Given the description of an element on the screen output the (x, y) to click on. 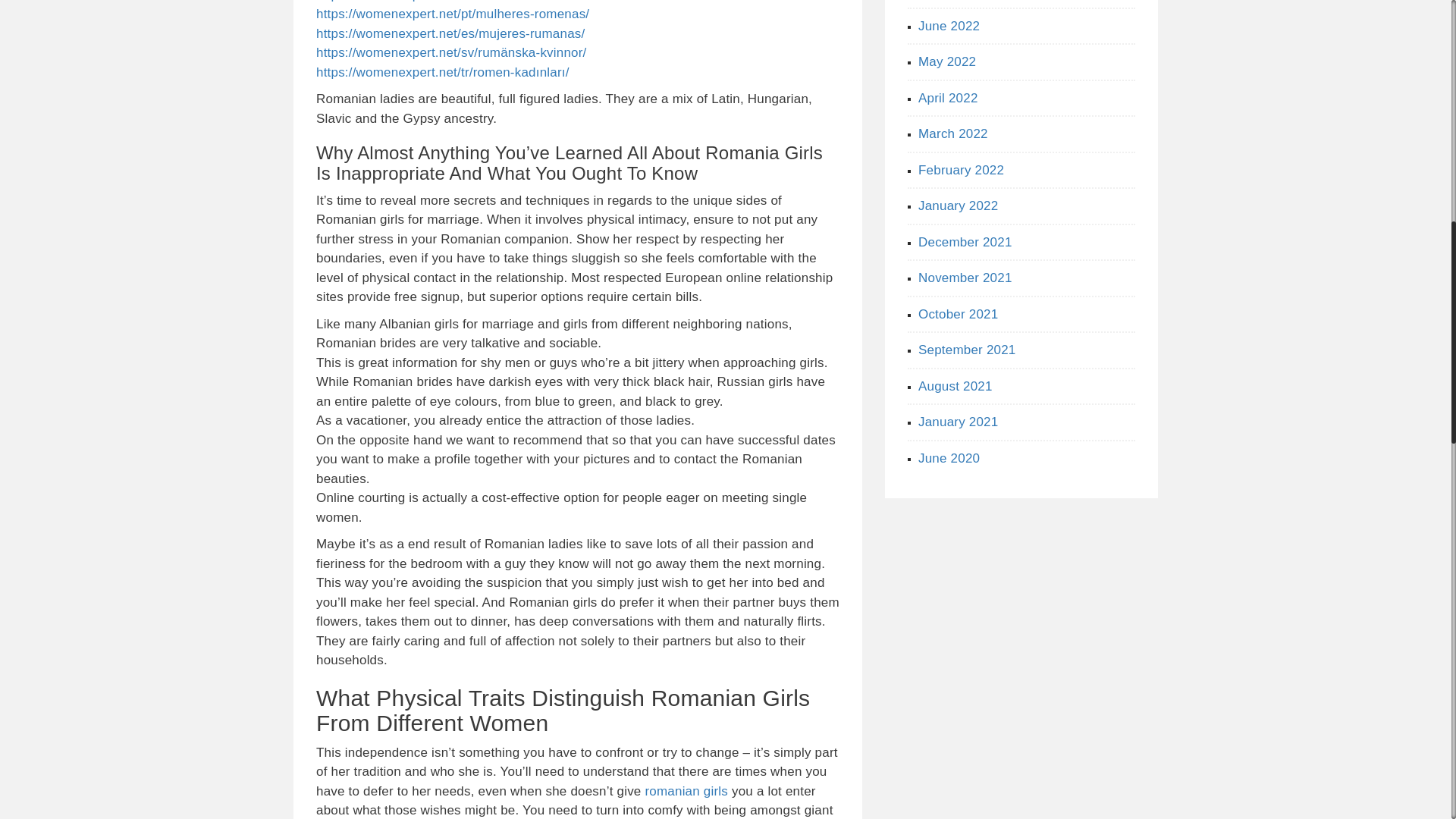
June 2022 (948, 25)
romanian girls (686, 790)
